Given the description of an element on the screen output the (x, y) to click on. 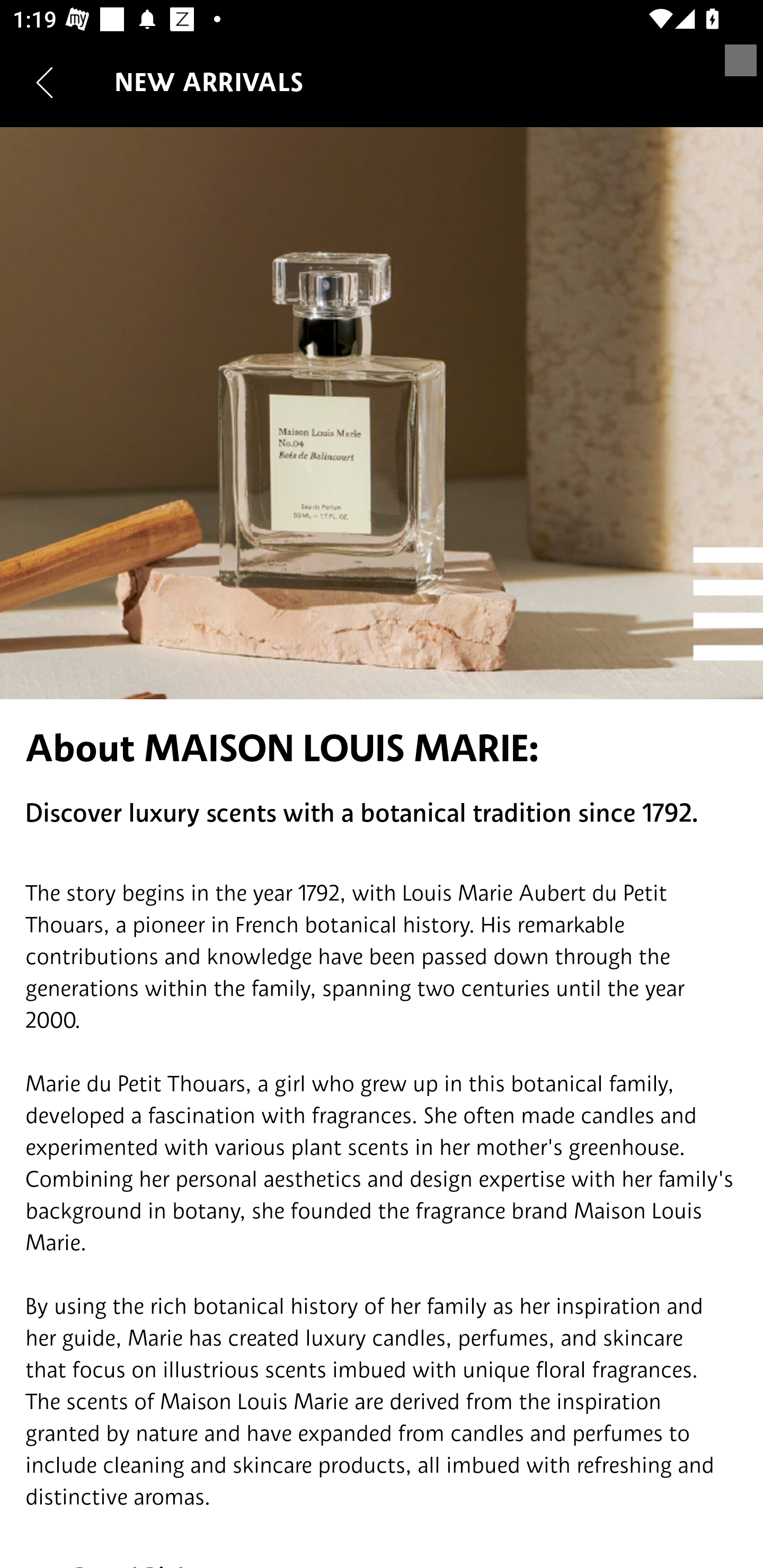
Navigate up (44, 82)
About MAISON LOUIS MARIE: (381, 747)
